Given the description of an element on the screen output the (x, y) to click on. 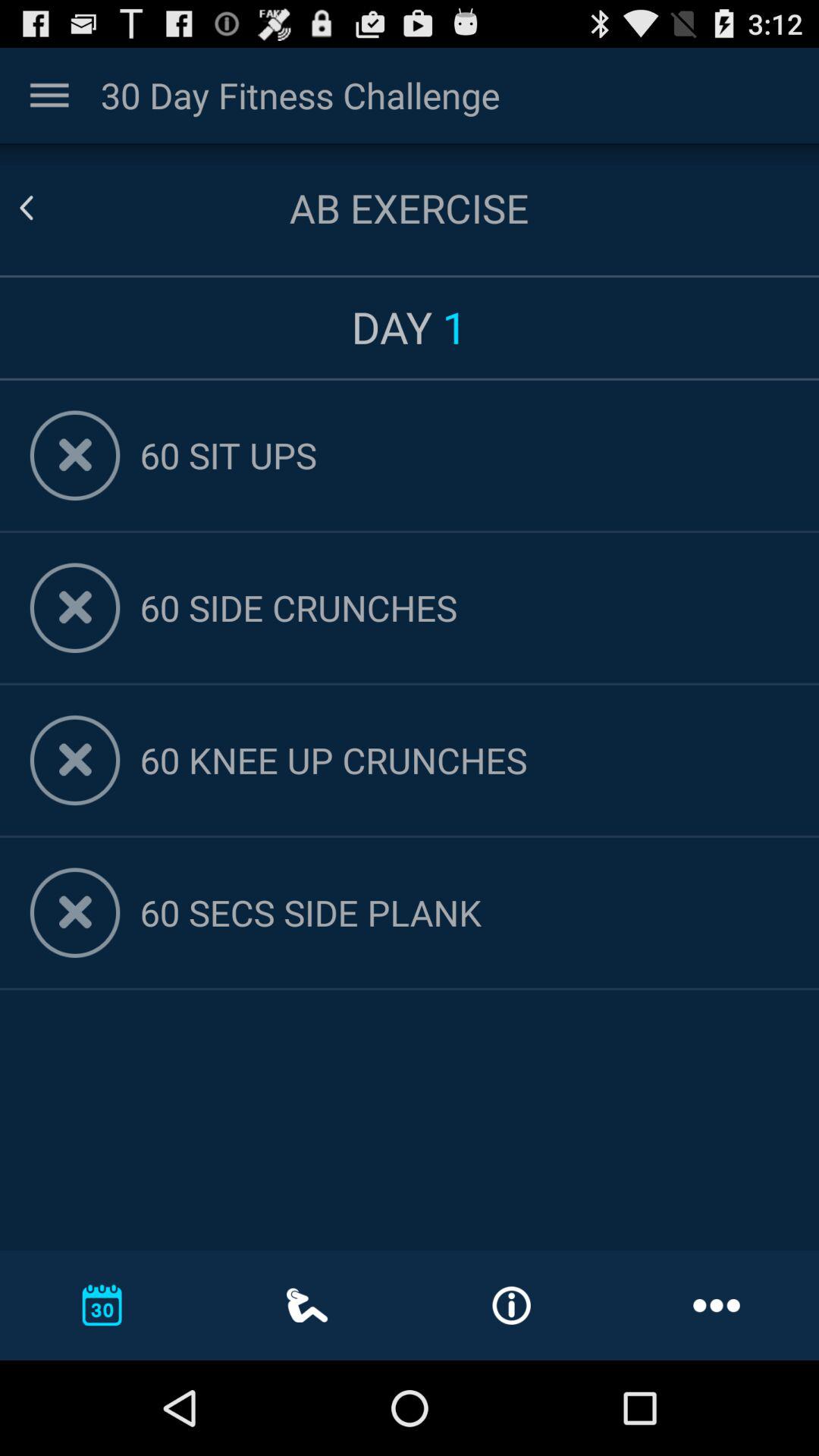
flip until 60 sit ups item (463, 455)
